Given the description of an element on the screen output the (x, y) to click on. 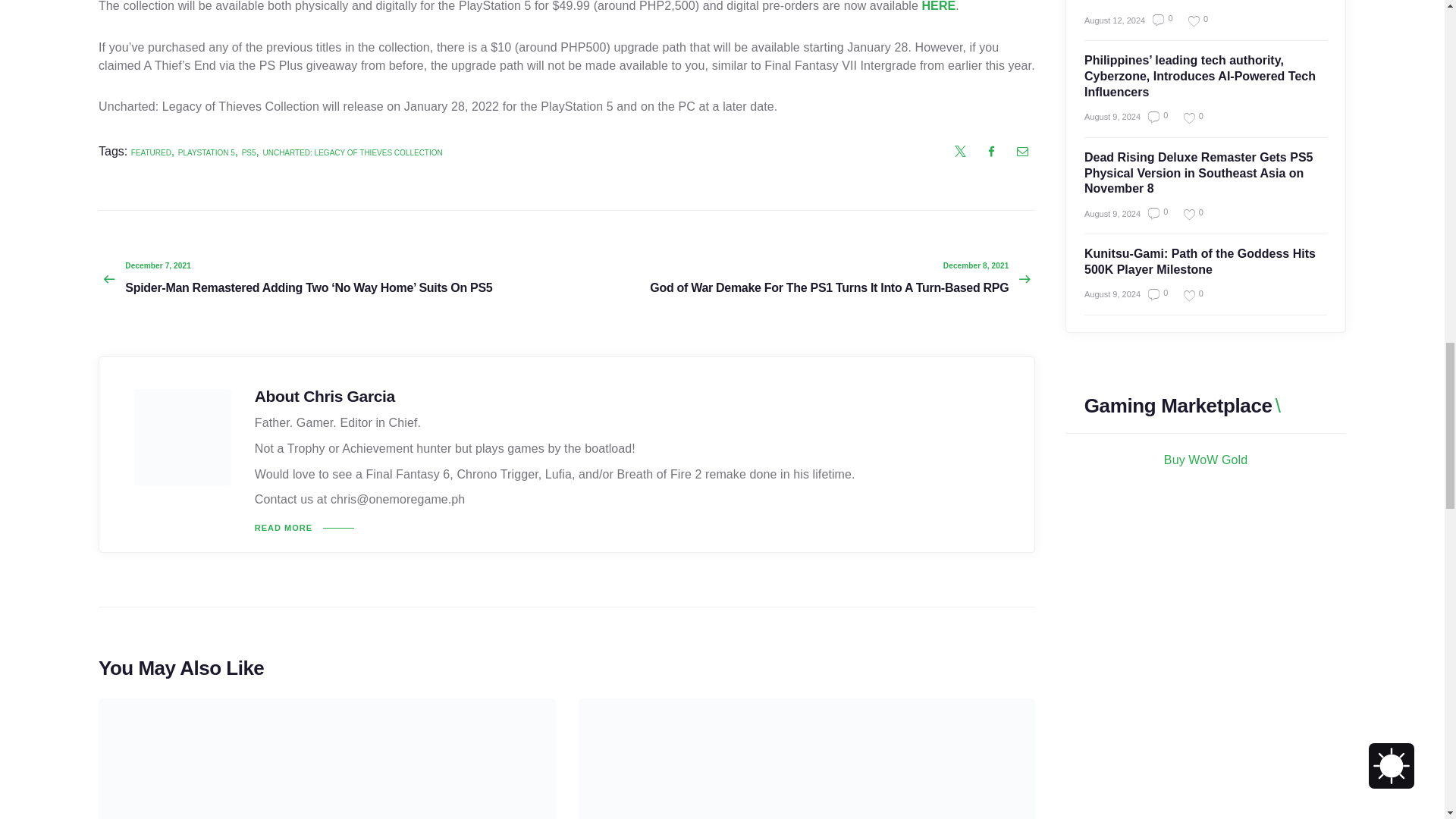
UNCHARTED: LEGACY OF THIEVES COLLECTION (352, 152)
Like (1187, 117)
HERE (938, 6)
PS5 (248, 152)
PLAYSTATION 5 (205, 152)
FEATURED (151, 152)
Like (1191, 20)
